Given the description of an element on the screen output the (x, y) to click on. 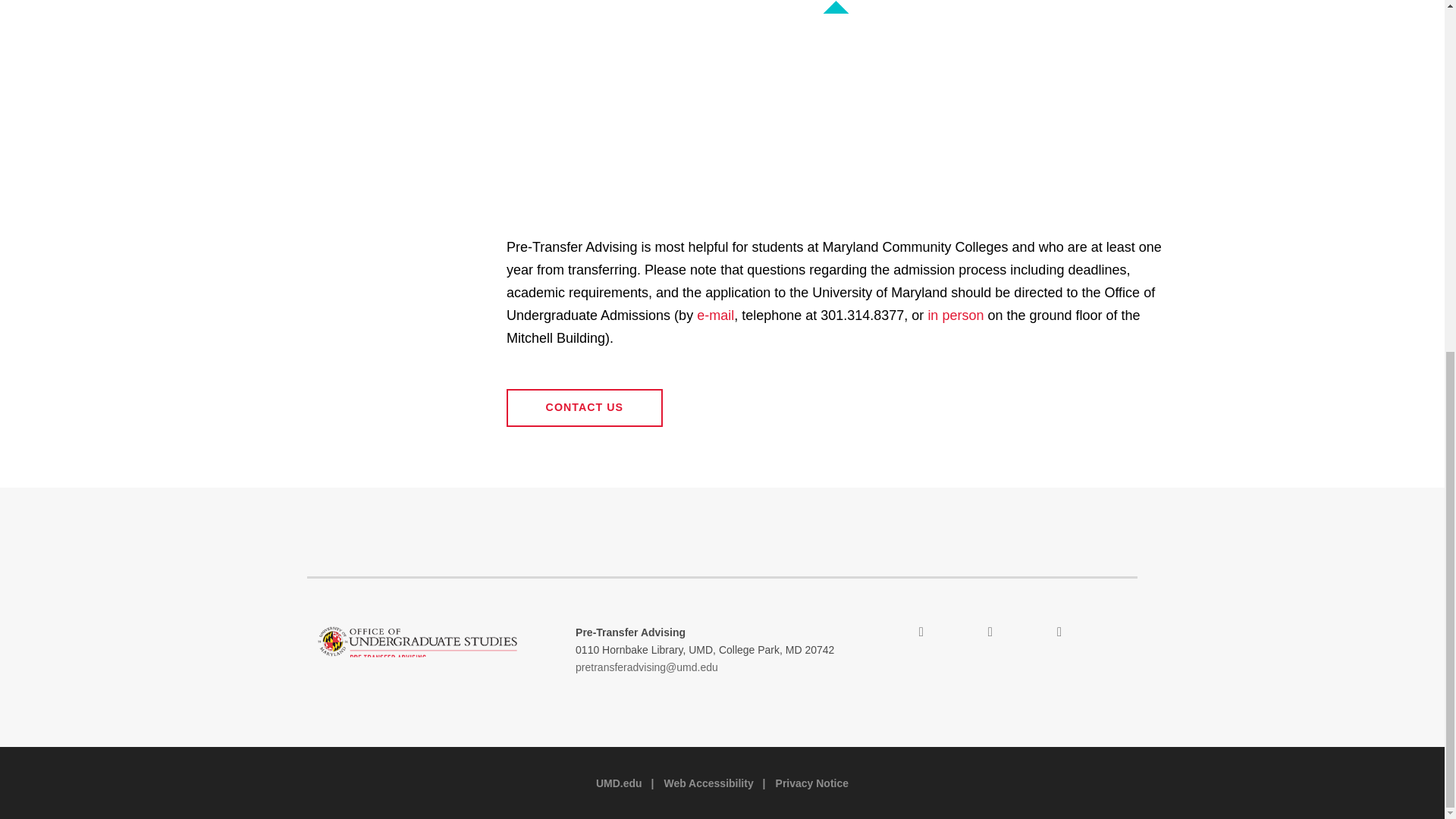
Privacy Notice (812, 783)
Web Accessibility (707, 783)
e-mail (715, 315)
in person (955, 315)
CONTACT US (584, 407)
UMD.edu (618, 783)
